Given the description of an element on the screen output the (x, y) to click on. 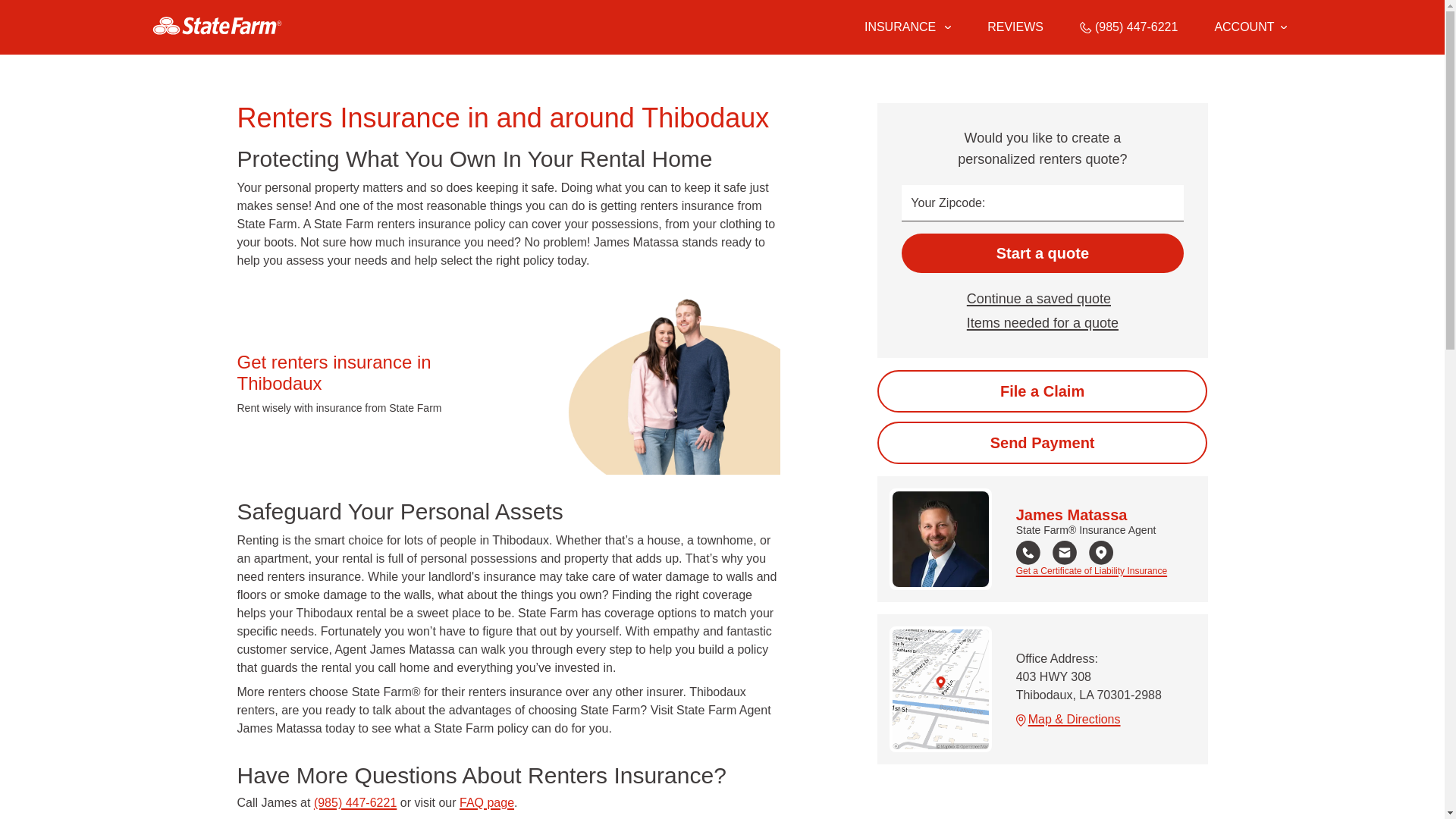
ACCOUNT (1250, 27)
INSURANCE (899, 27)
Start the claim process online (1042, 391)
Insurance (907, 27)
REVIEWS (1015, 27)
Account Options (1250, 27)
